Given the description of an element on the screen output the (x, y) to click on. 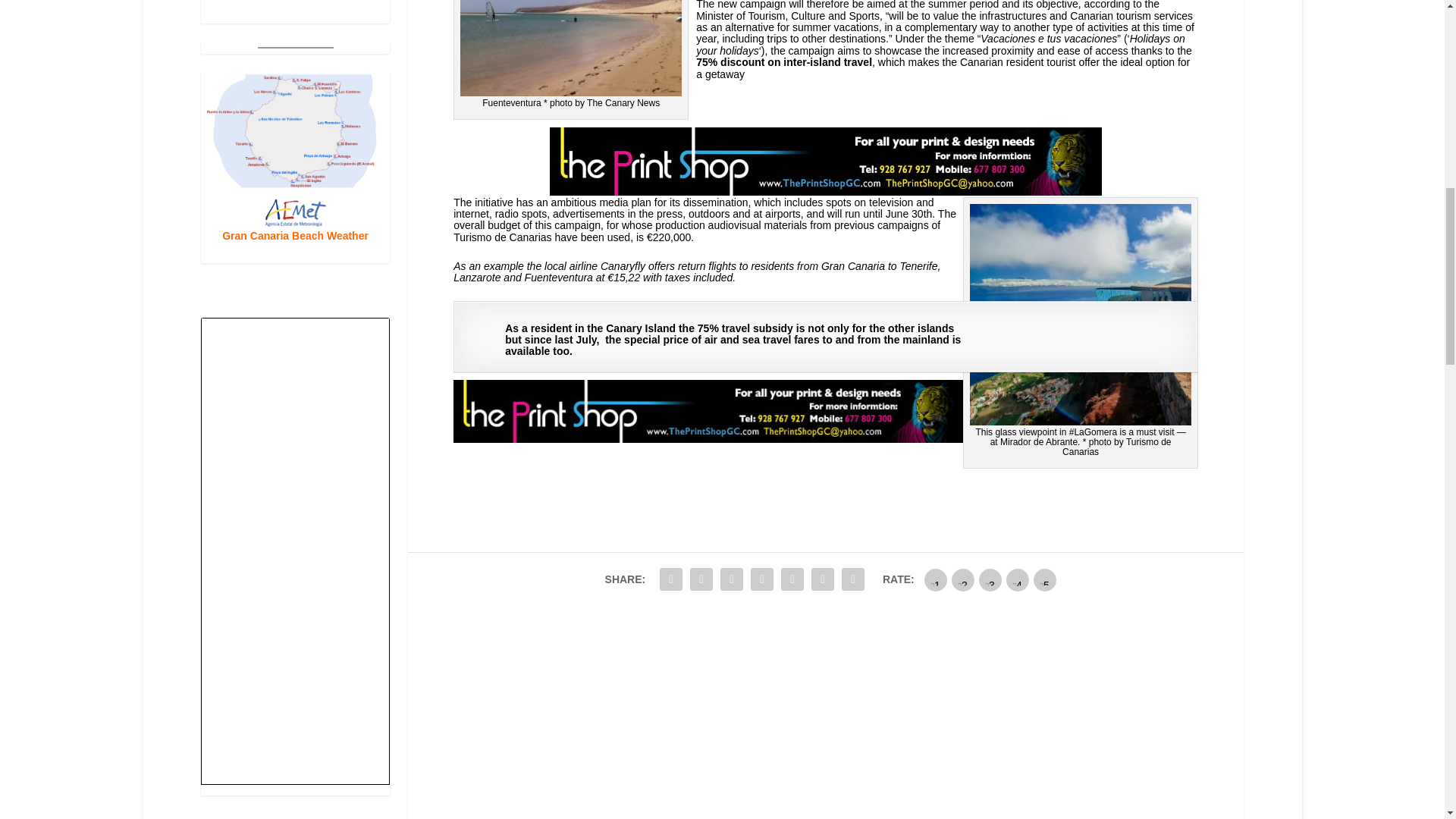
bad (935, 579)
poor (963, 579)
